Given the description of an element on the screen output the (x, y) to click on. 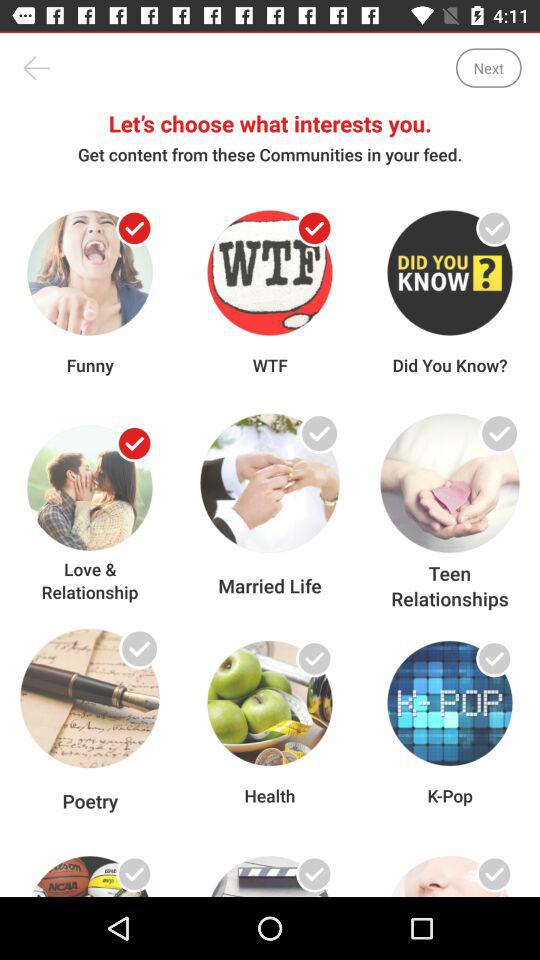
swipe until the next (488, 67)
